Given the description of an element on the screen output the (x, y) to click on. 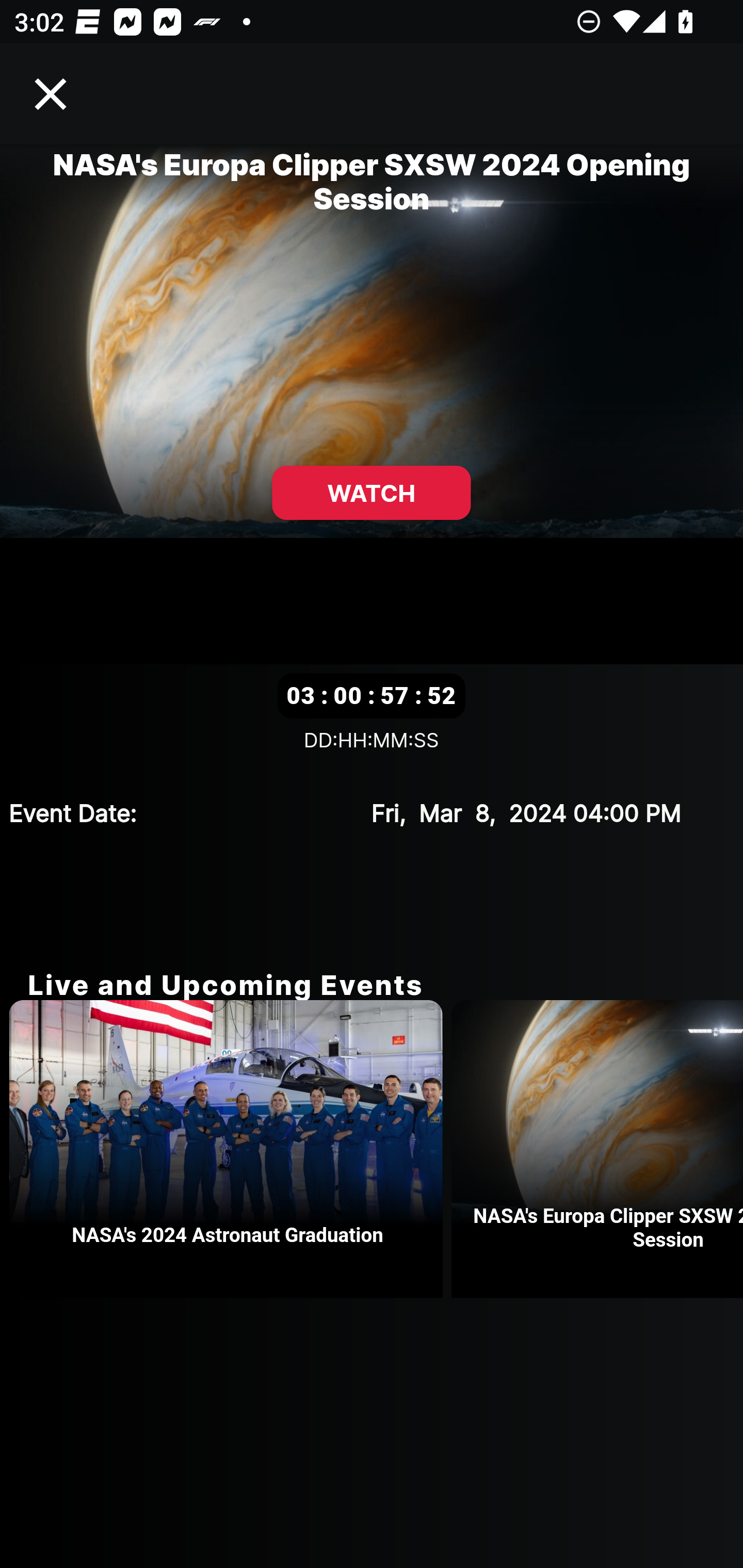
WATCH (371, 492)
NASA's 2024 Astronaut Graduation (229, 1149)
NASA's Europa Clipper SXSW 2024 Opening Session (597, 1149)
